Given the description of an element on the screen output the (x, y) to click on. 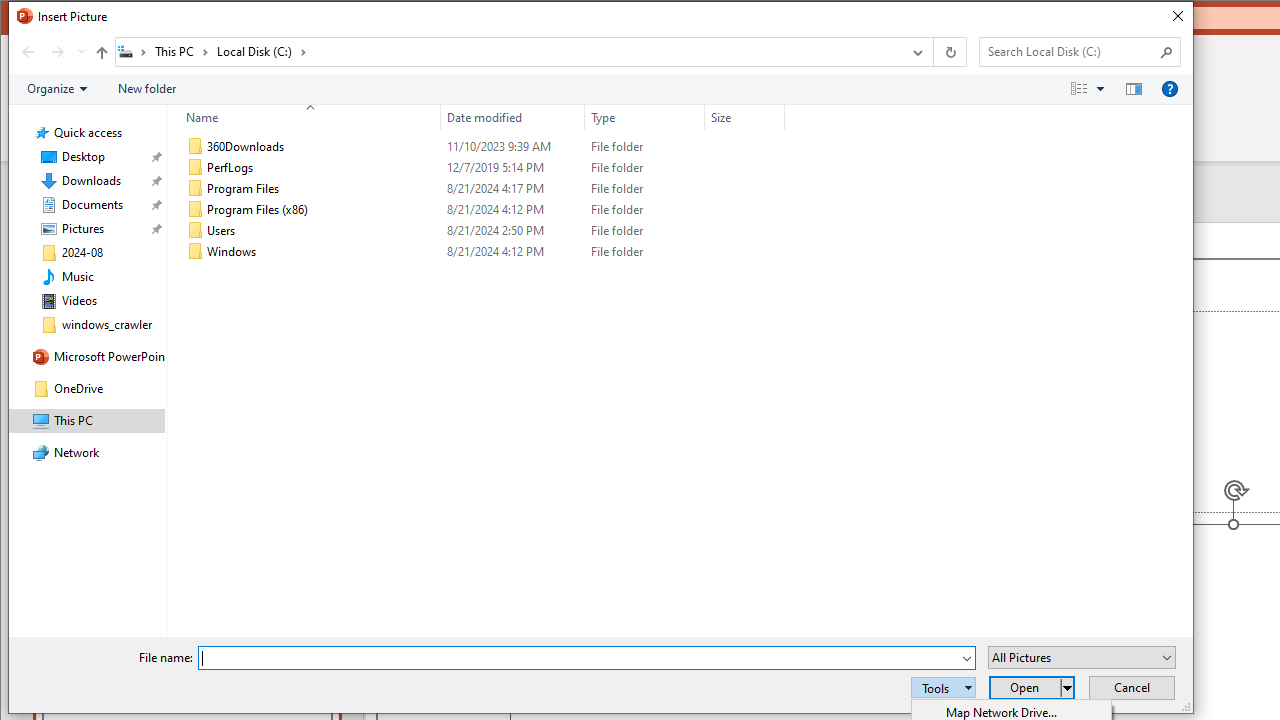
Type (644, 117)
All locations (133, 51)
View Slider (1100, 89)
Filter dropdown (776, 117)
Name (322, 251)
